Given the description of an element on the screen output the (x, y) to click on. 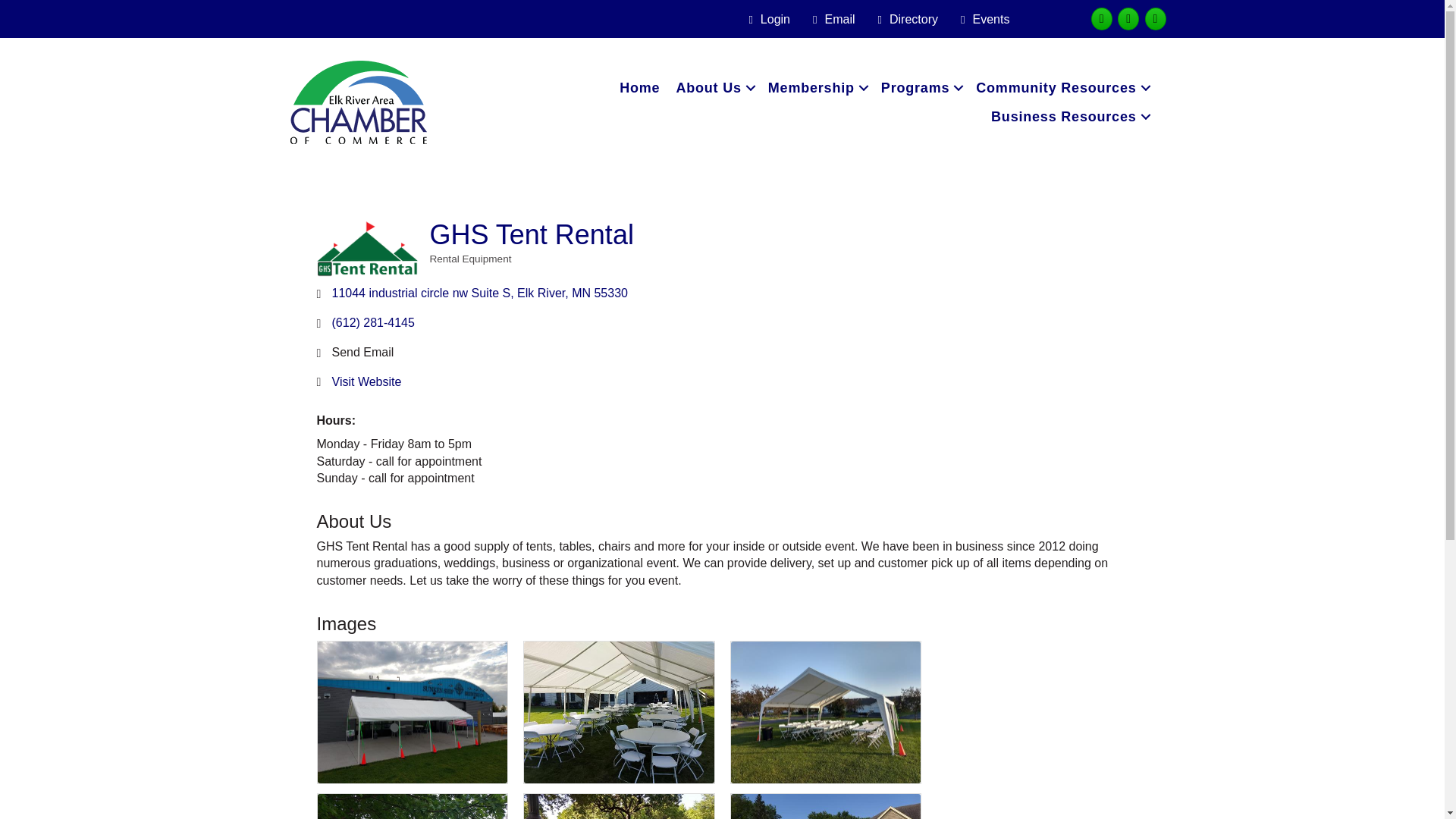
About Us (713, 87)
Community Resources (1061, 87)
18X27 TENT FOR SUNKIN SHIP BREWERY (411, 712)
20X40 TENT, TABLES AND CHAIRS ON DRIVEWAY (825, 806)
Home (638, 87)
Directory (904, 19)
20X40 TENT WITH ROUND TABLES AND CHAIRS FOR OUTDOOR WEDDING (619, 712)
Membership (816, 87)
Email (830, 19)
OUTDOOR WEDDING AT A PARK IN ST PAUL (619, 806)
elk-river-chamber-logo-sm (357, 102)
GHS Tent Rental (368, 249)
Login (765, 19)
20X20 TENT WITH TABLES AND CHAIRS (411, 806)
Events (981, 19)
